Given the description of an element on the screen output the (x, y) to click on. 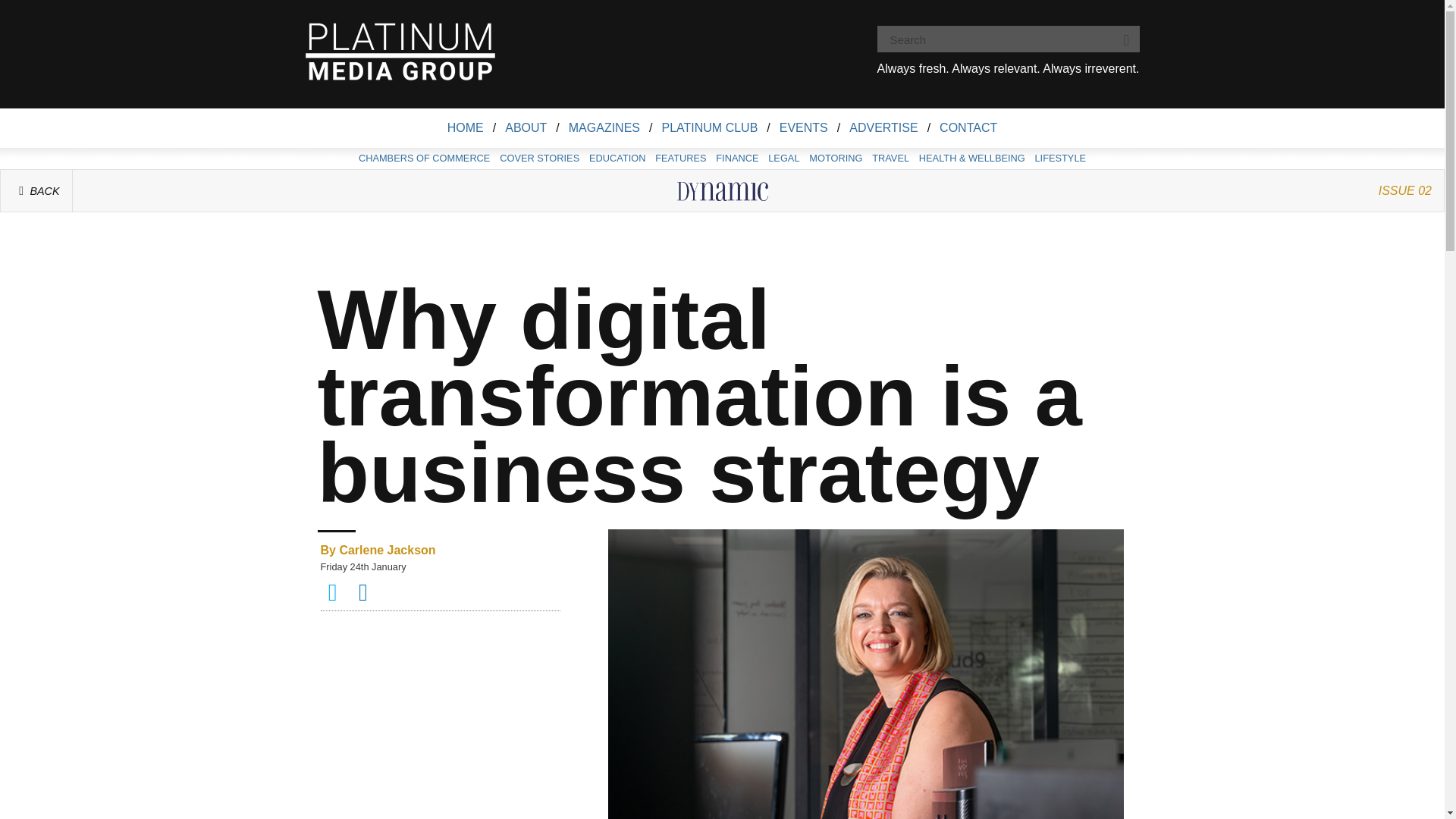
PLATINUM CLUB (709, 127)
ADVERTISE (883, 127)
MAGAZINES (604, 127)
FEATURES (680, 157)
FINANCE (736, 157)
By Carlene Jackson (439, 550)
CHAMBERS OF COMMERCE (424, 157)
LIFESTYLE (1059, 157)
CONTACT (968, 127)
ABOUT (526, 127)
